Given the description of an element on the screen output the (x, y) to click on. 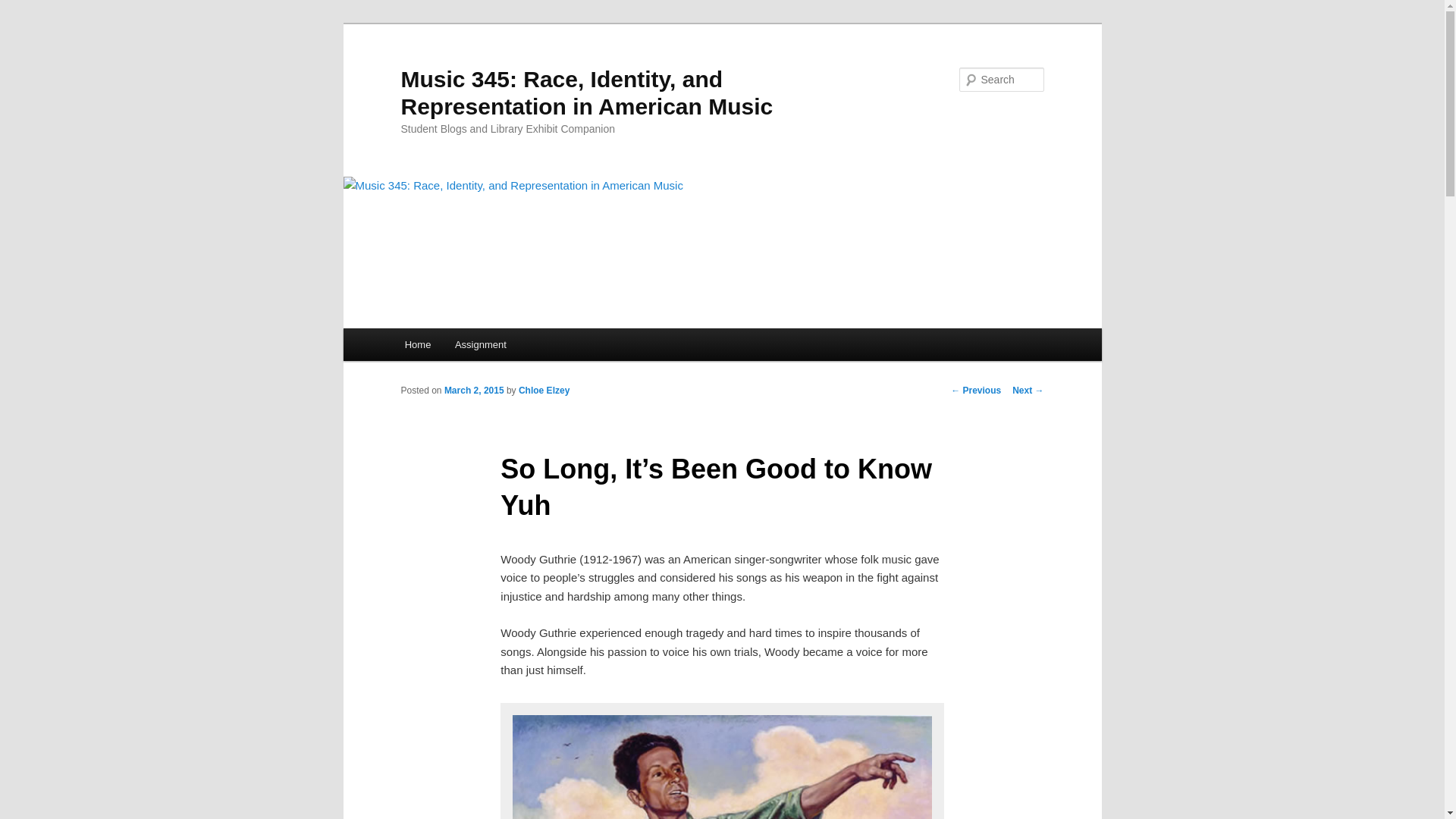
Assignment (480, 344)
Search (24, 8)
Home (417, 344)
Chloe Elzey (543, 389)
View all posts by Chloe Elzey (543, 389)
March 2, 2015 (473, 389)
11:56 pm (473, 389)
